Given the description of an element on the screen output the (x, y) to click on. 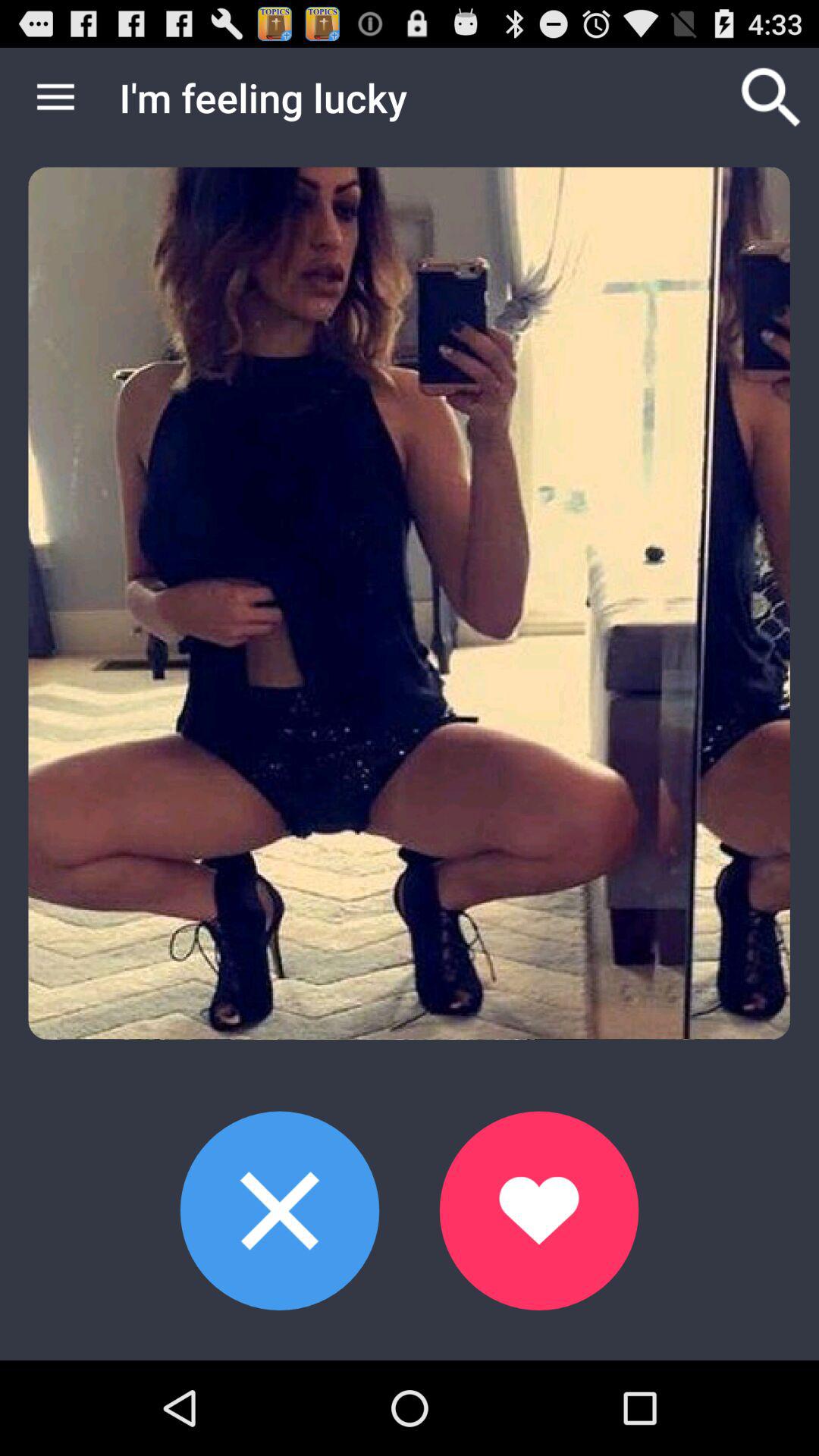
close photo (279, 1210)
